Given the description of an element on the screen output the (x, y) to click on. 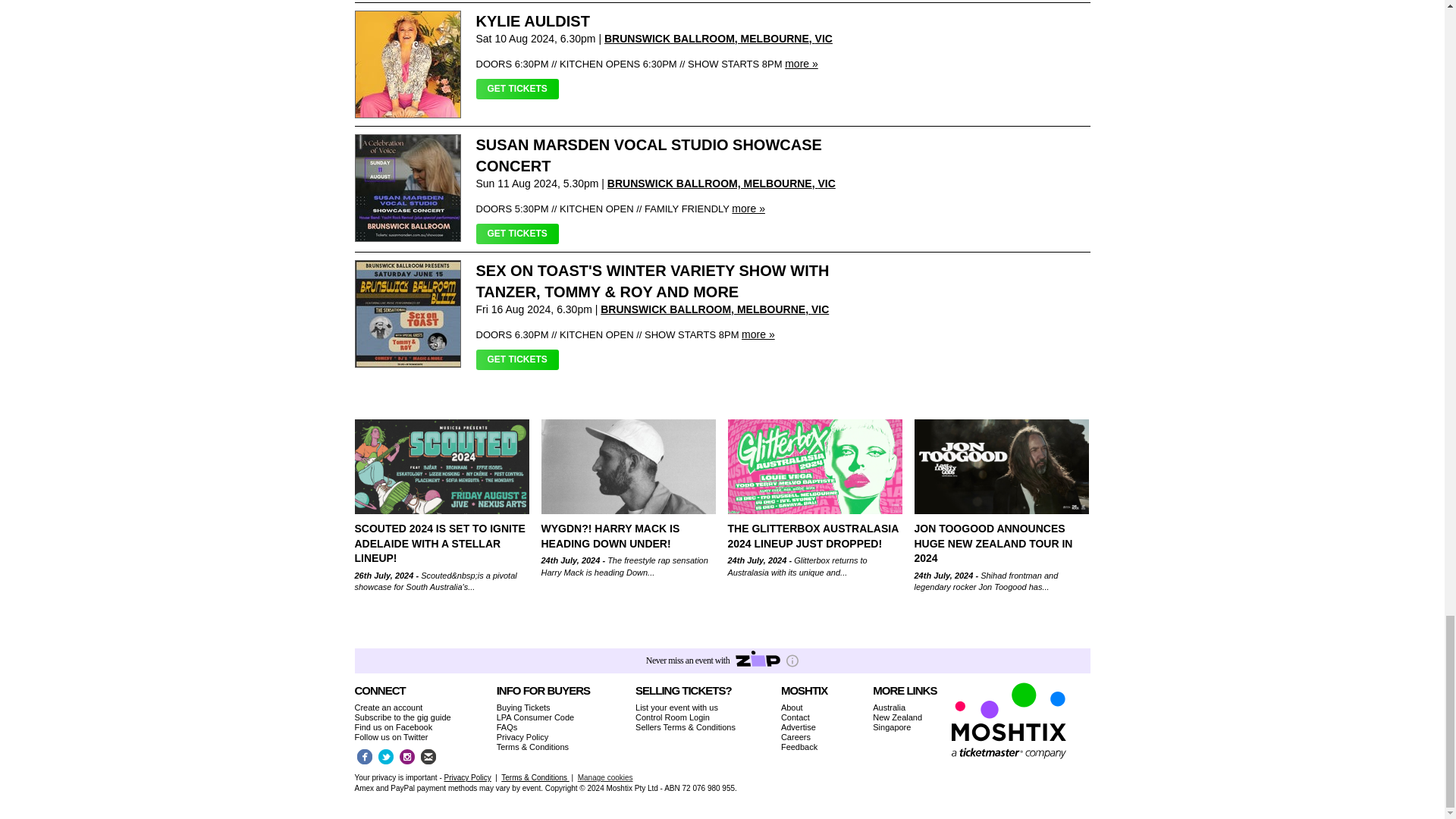
KYLIE AULDIST (532, 21)
GET TICKETS (517, 88)
BRUNSWICK BALLROOM, MELBOURNE, VIC (718, 38)
SUSAN MARSDEN VOCAL STUDIO SHOWCASE CONCERT (649, 155)
